Given the description of an element on the screen output the (x, y) to click on. 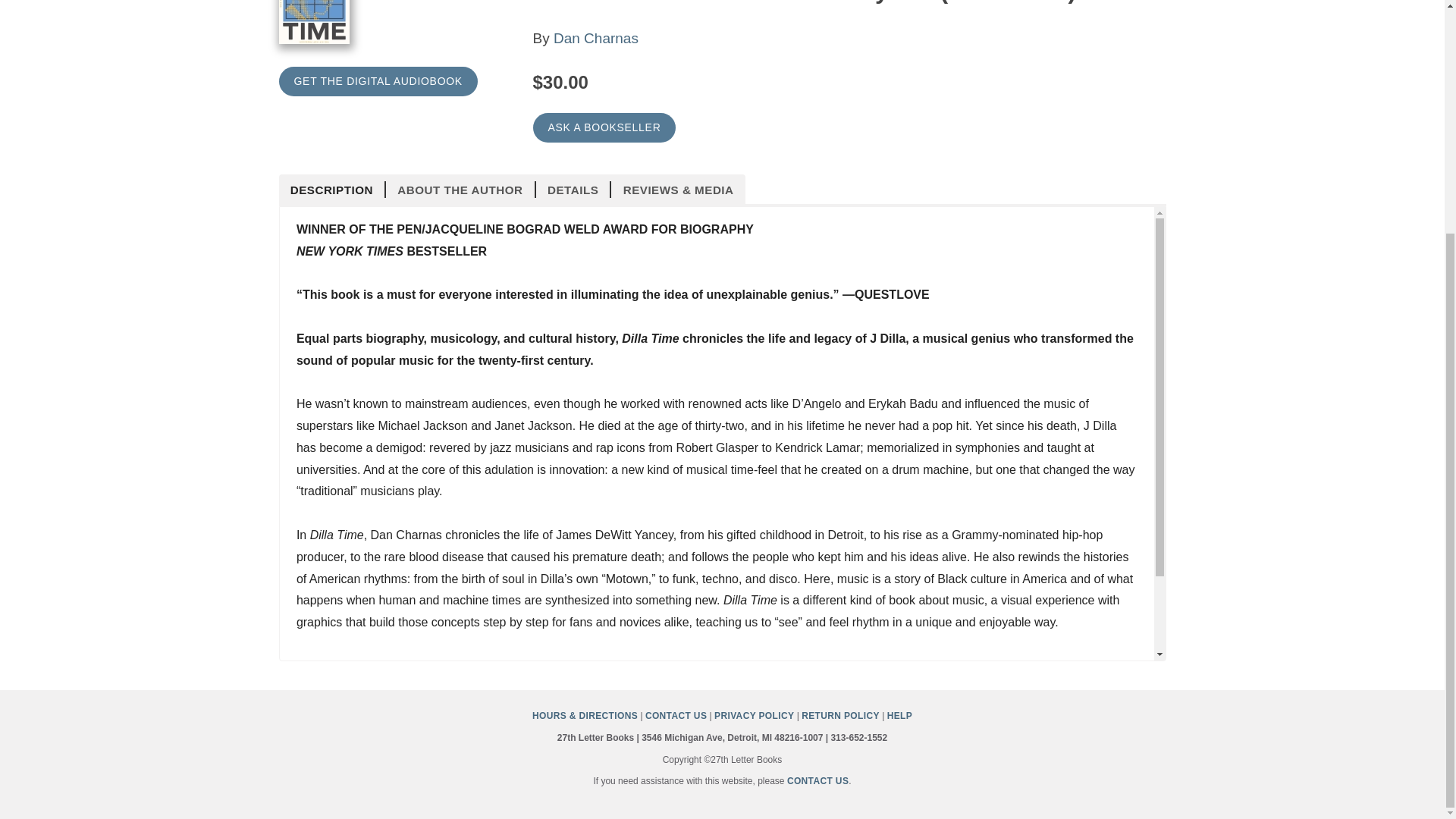
DETAILS (573, 189)
HELP (899, 715)
Get the Digital Audiobook (378, 81)
PRIVACY POLICY (753, 715)
Ask a Bookseller (603, 127)
Dan Charnas (596, 37)
CONTACT US (817, 780)
DESCRIPTION (333, 189)
Ask a Bookseller (603, 127)
CONTACT US (675, 715)
Get the Digital Audiobook (378, 81)
ABOUT THE AUTHOR (460, 189)
RETURN POLICY (840, 715)
